Given the description of an element on the screen output the (x, y) to click on. 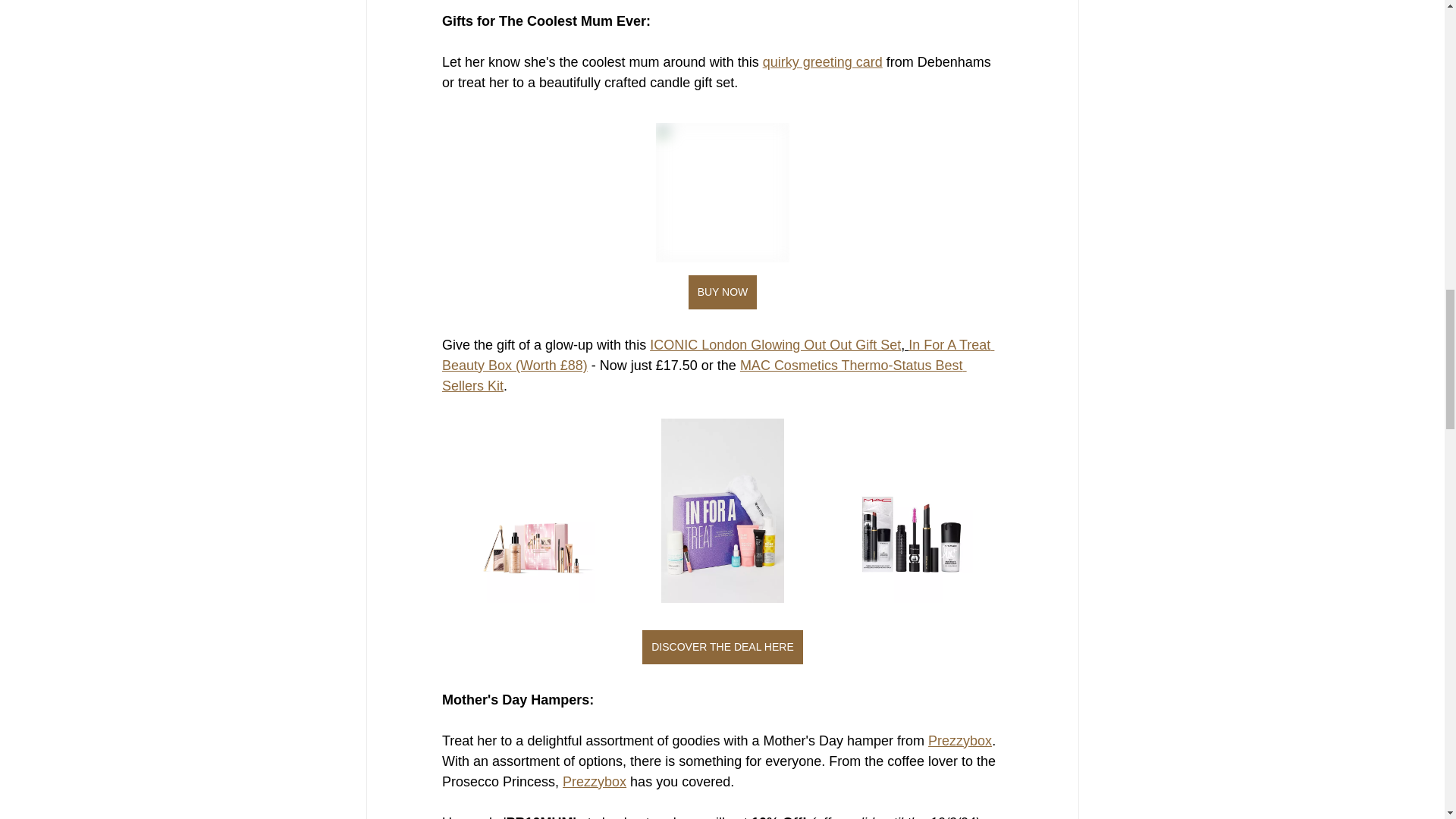
Prezzybox (594, 781)
ICONIC London Glowing Out Out Gift Set (775, 344)
quirky greeting card (821, 61)
MAC Cosmetics Thermo-Status Best Sellers Kit (703, 375)
BUY NOW (722, 292)
DISCOVER THE DEAL HERE (722, 646)
Prezzybox (959, 740)
